Given the description of an element on the screen output the (x, y) to click on. 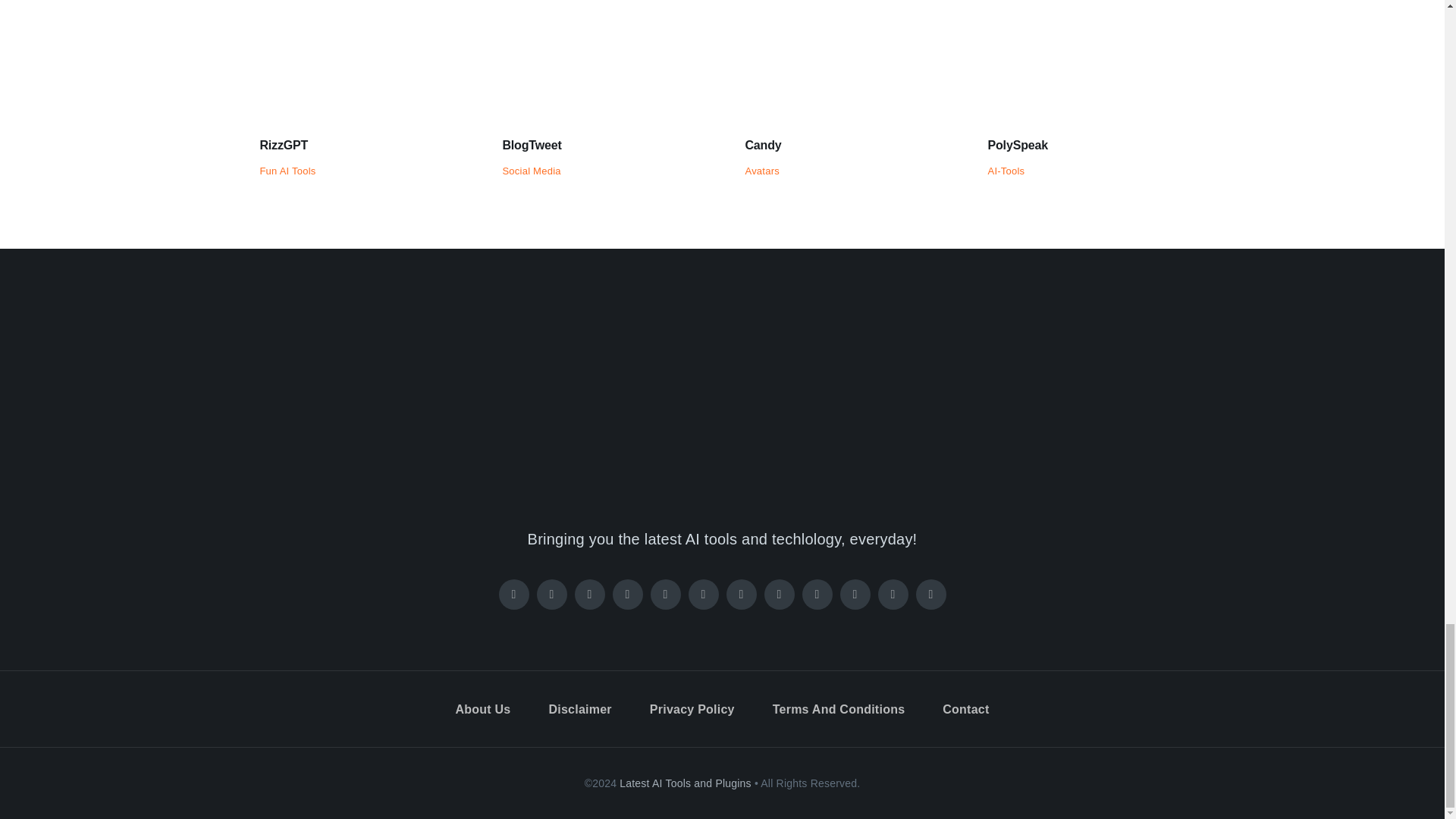
Tiktok (703, 594)
Pinterest (627, 594)
YouTube (741, 594)
Instagram (590, 594)
Facebook (514, 594)
Tumblr (855, 594)
Twitter (552, 594)
Twitch (665, 594)
Dribbble (817, 594)
LinkedIn (779, 594)
